Given the description of an element on the screen output the (x, y) to click on. 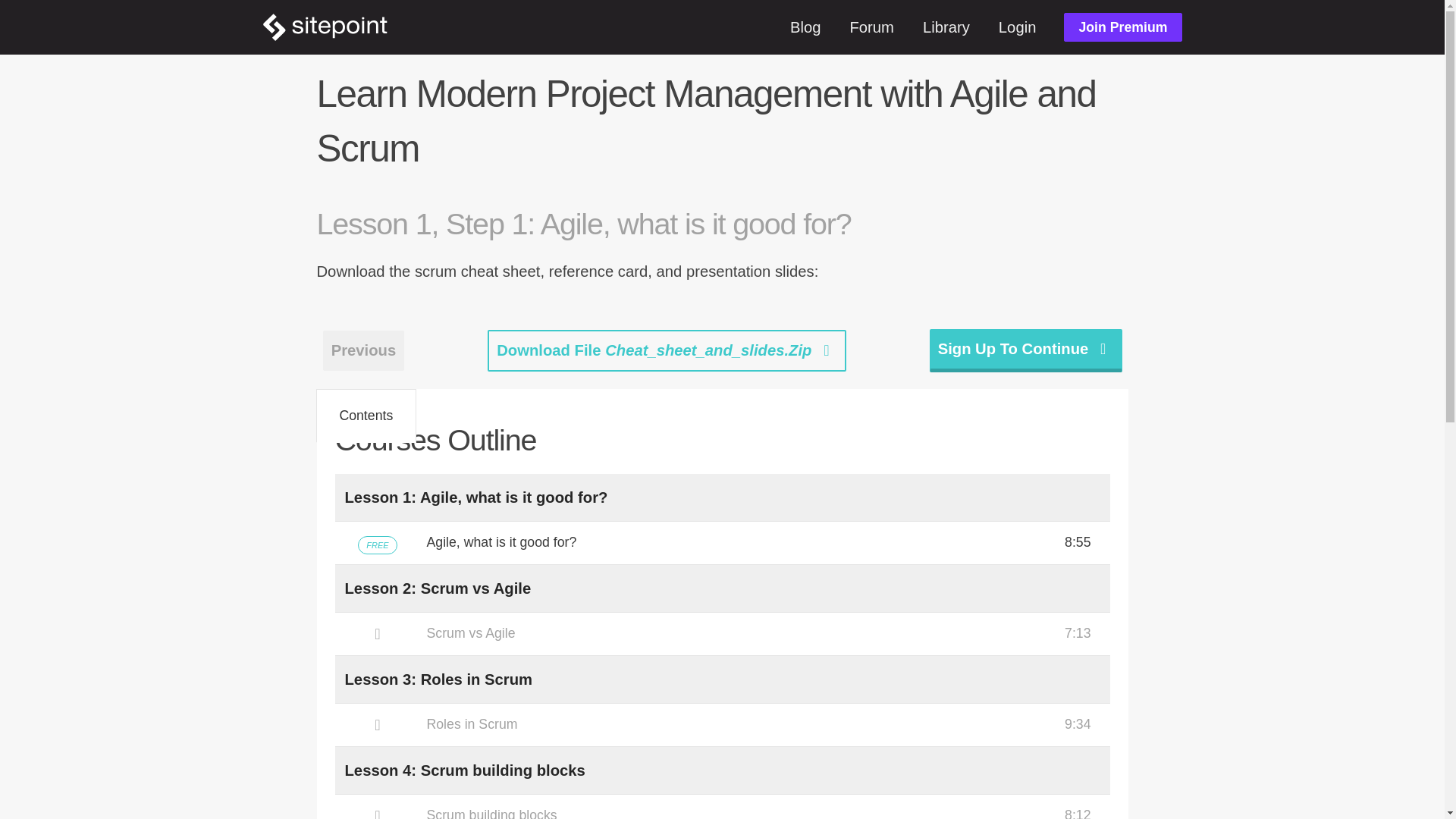
Blog (805, 27)
Forum (871, 27)
Lesson 4: Scrum building blocks (464, 770)
Login (1016, 27)
Scrum building blocks (721, 806)
Lesson 2: Scrum vs Agile (437, 588)
Scrum vs Agile (721, 633)
Previous (363, 350)
Lesson Notes (379, 416)
Agile, what is it good for? (721, 542)
